Given the description of an element on the screen output the (x, y) to click on. 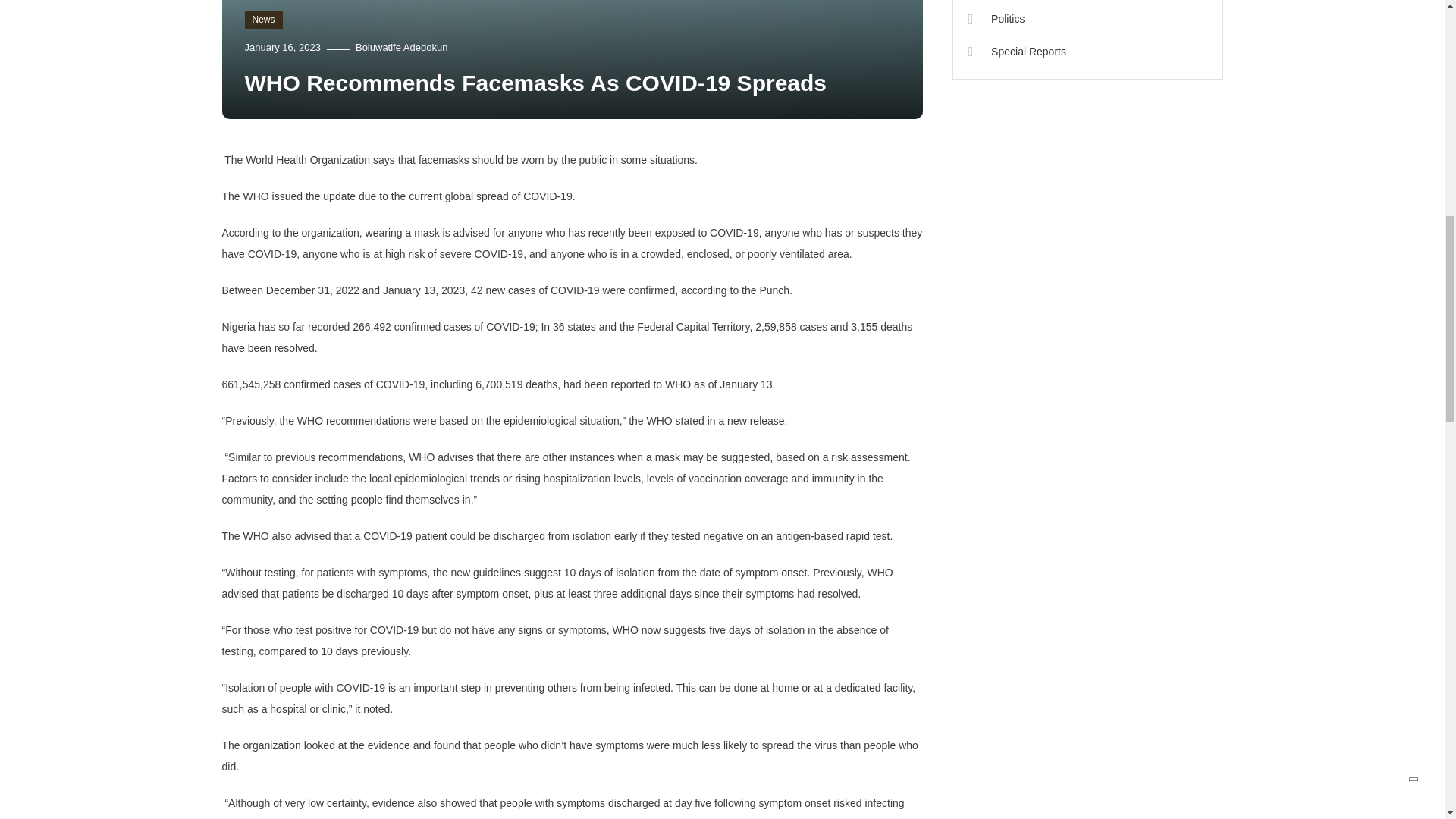
Boluwatife Adedokun (400, 47)
News (263, 20)
January 16, 2023 (282, 47)
